Given the description of an element on the screen output the (x, y) to click on. 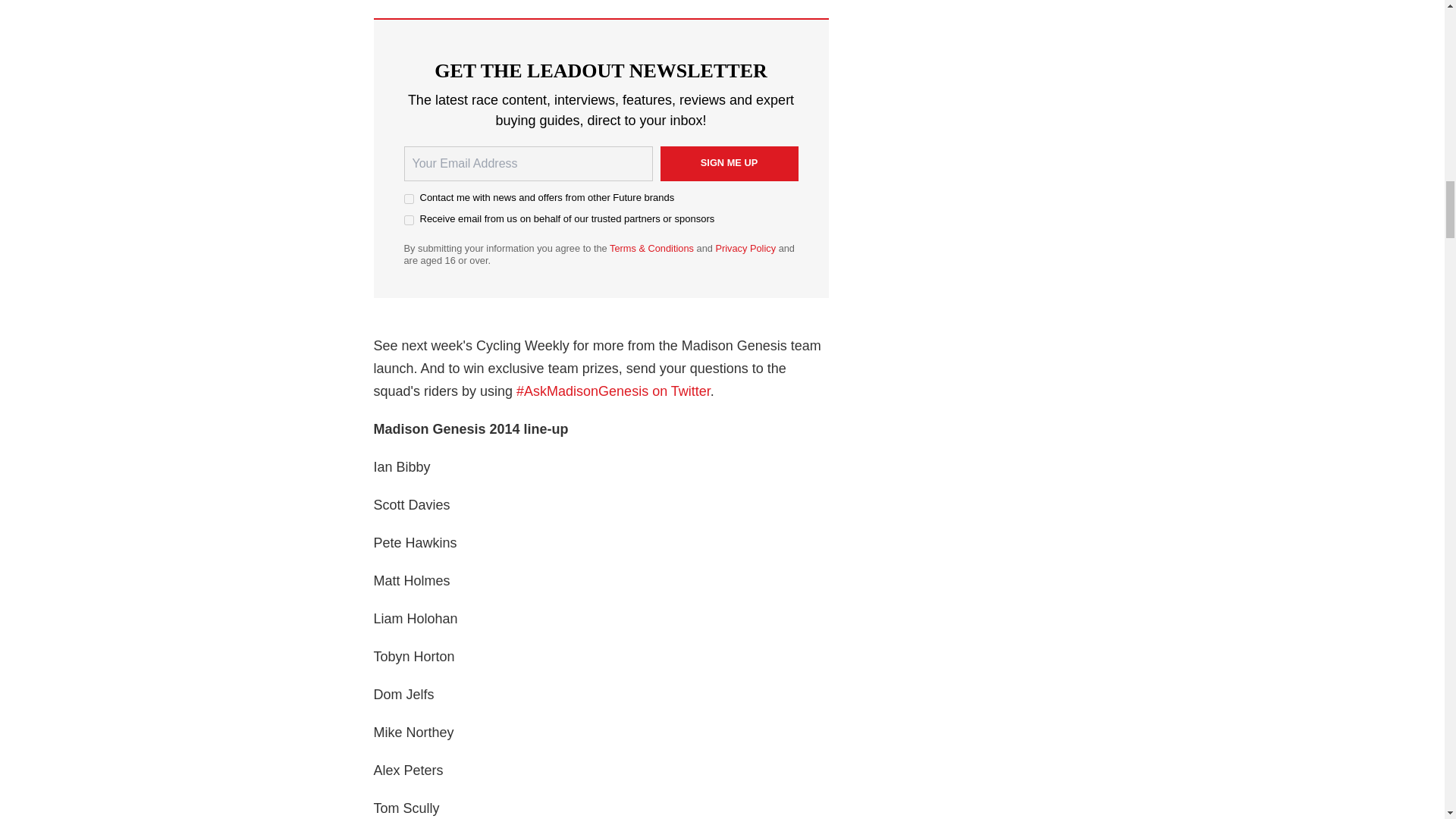
on (408, 220)
Sign me up (728, 163)
on (408, 198)
